Given the description of an element on the screen output the (x, y) to click on. 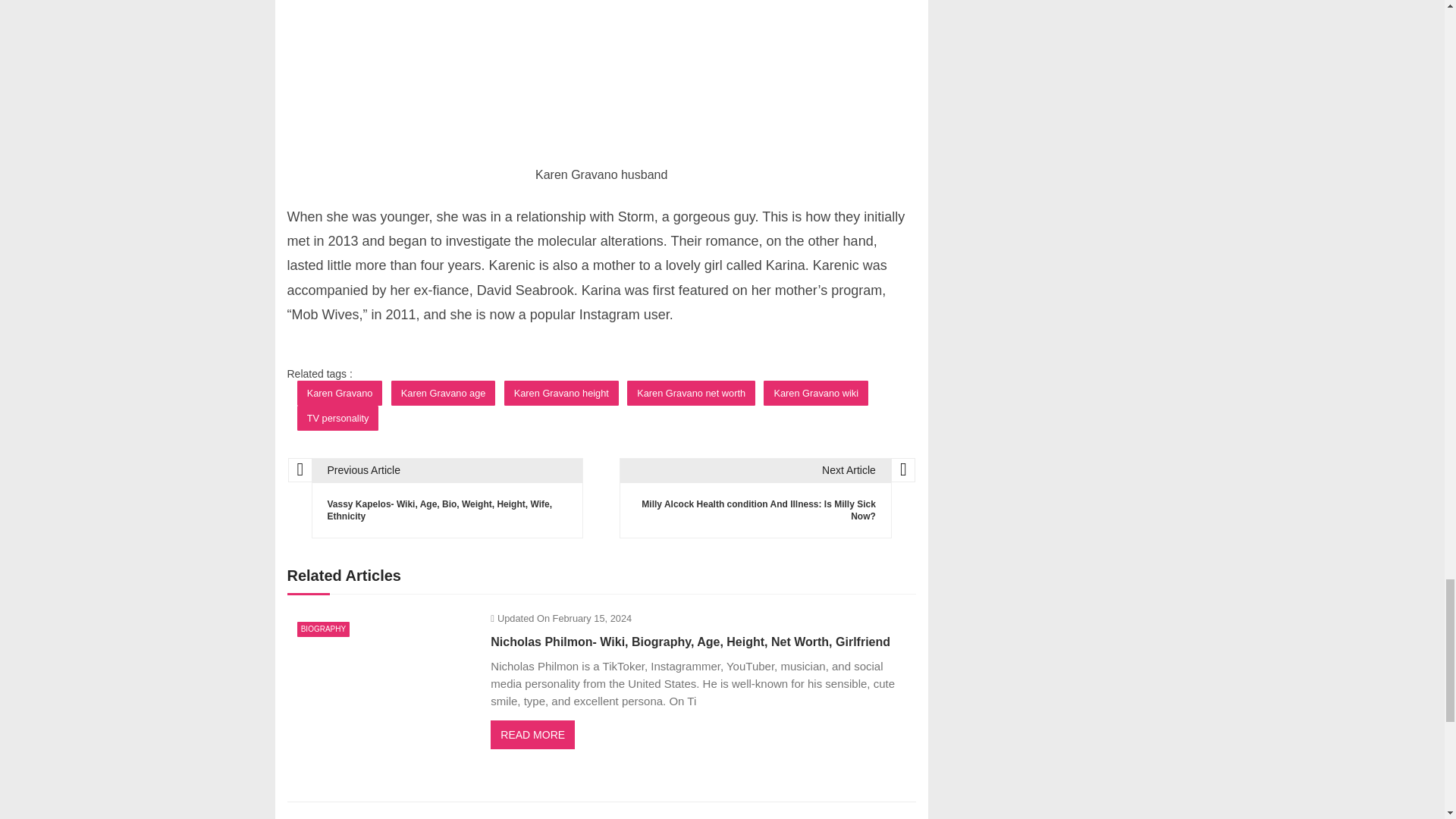
Karen Gravano (339, 392)
Karen Gravano wiki (814, 392)
Karen Gravano net worth (691, 392)
Karen Gravano height (560, 392)
Karen Gravano age (443, 392)
TV personality (337, 417)
